Given the description of an element on the screen output the (x, y) to click on. 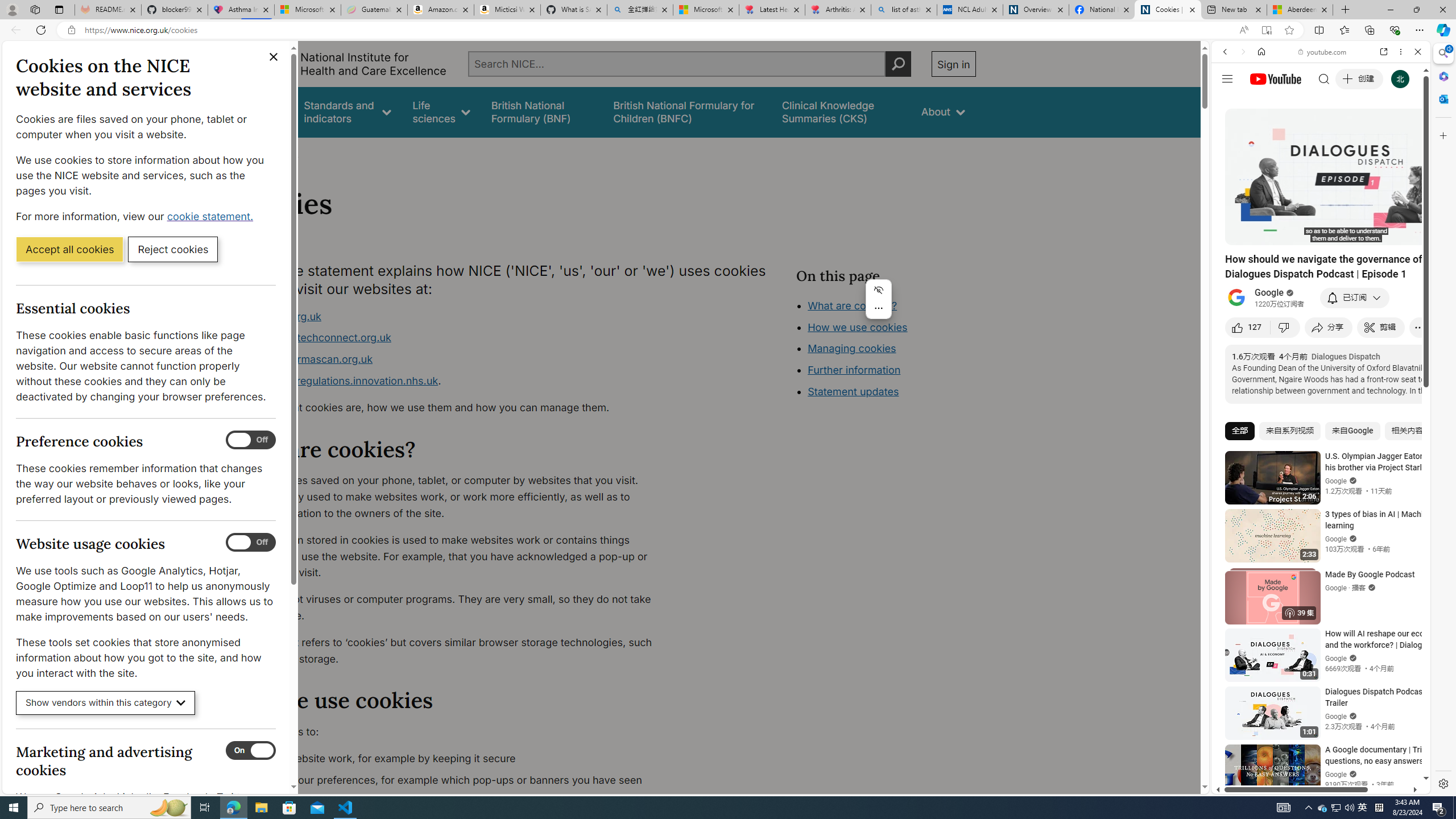
www.digitalregulations.innovation.nhs.uk (338, 380)
Perform search (898, 63)
www.healthtechconnect.org.uk (314, 337)
Cookies | About | NICE (1167, 9)
